Given the description of an element on the screen output the (x, y) to click on. 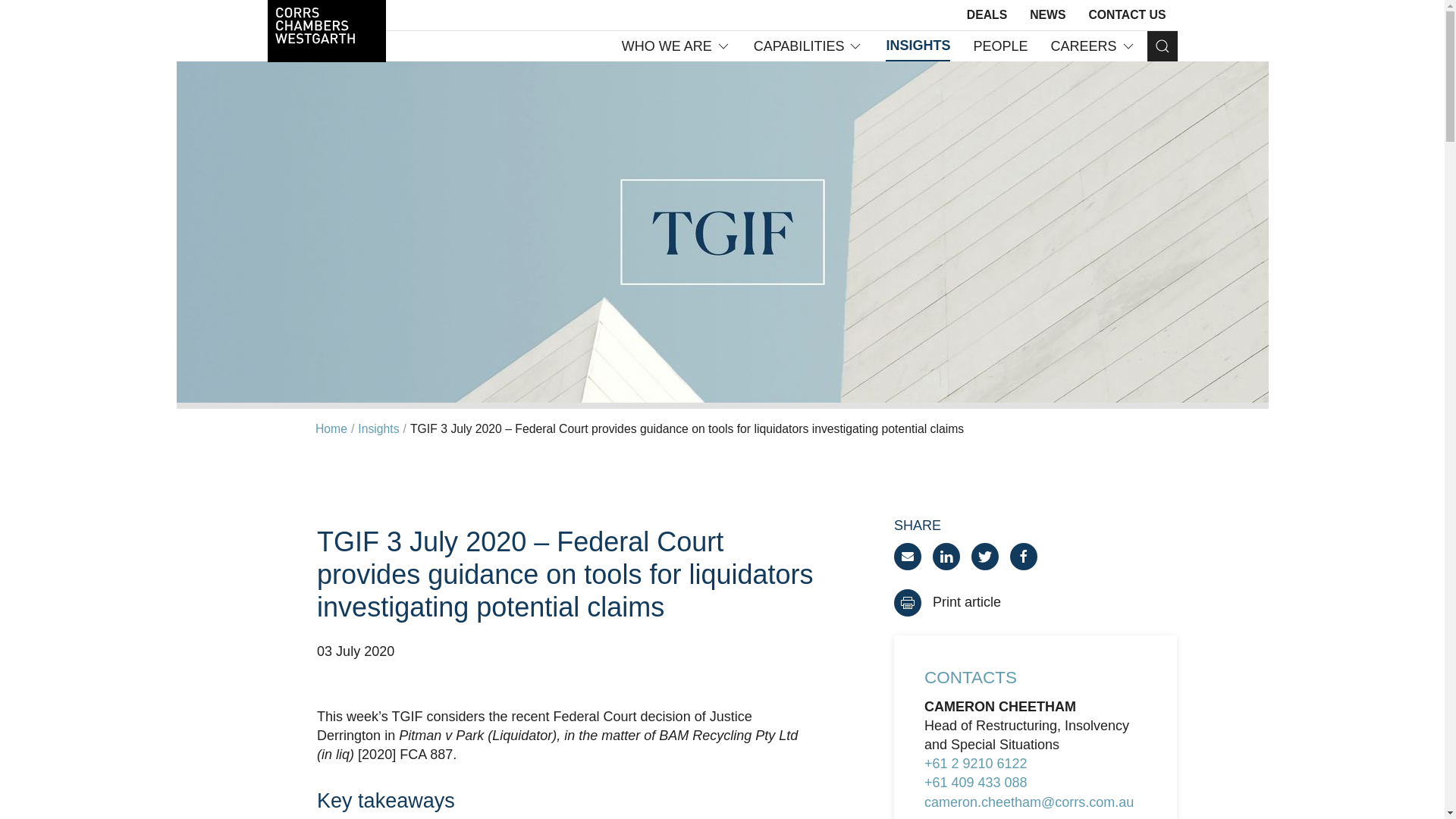
NEWS (1047, 15)
CONTACT US (1126, 15)
DEALS (986, 15)
WHO WE ARE (675, 46)
Share by Email (907, 556)
CAPABILITIES (808, 46)
